Given the description of an element on the screen output the (x, y) to click on. 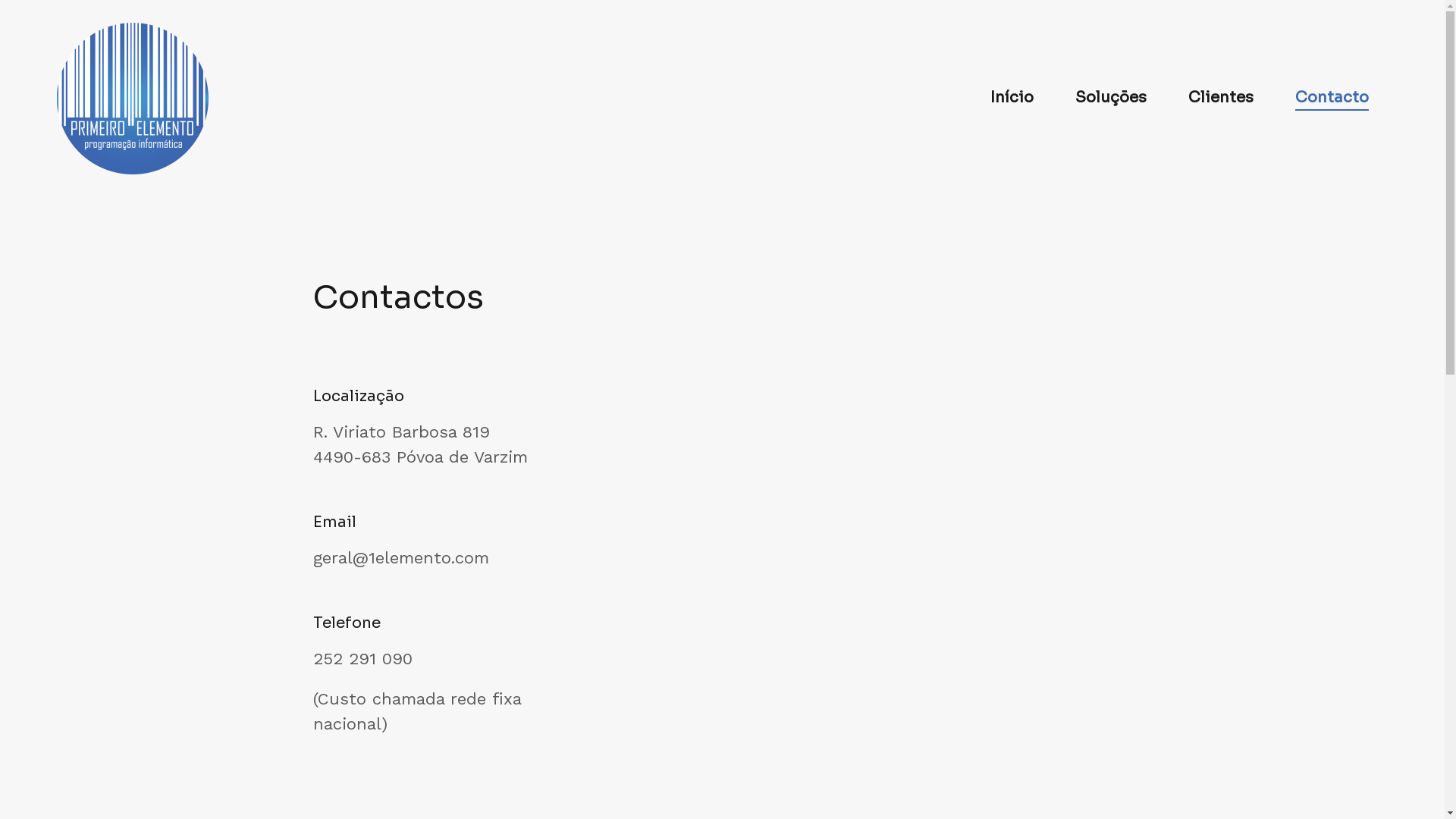
Contacto Element type: text (1331, 98)
R. de Viriato Barbosa 819 Element type: hover (873, 474)
Clientes Element type: text (1220, 97)
